Given the description of an element on the screen output the (x, y) to click on. 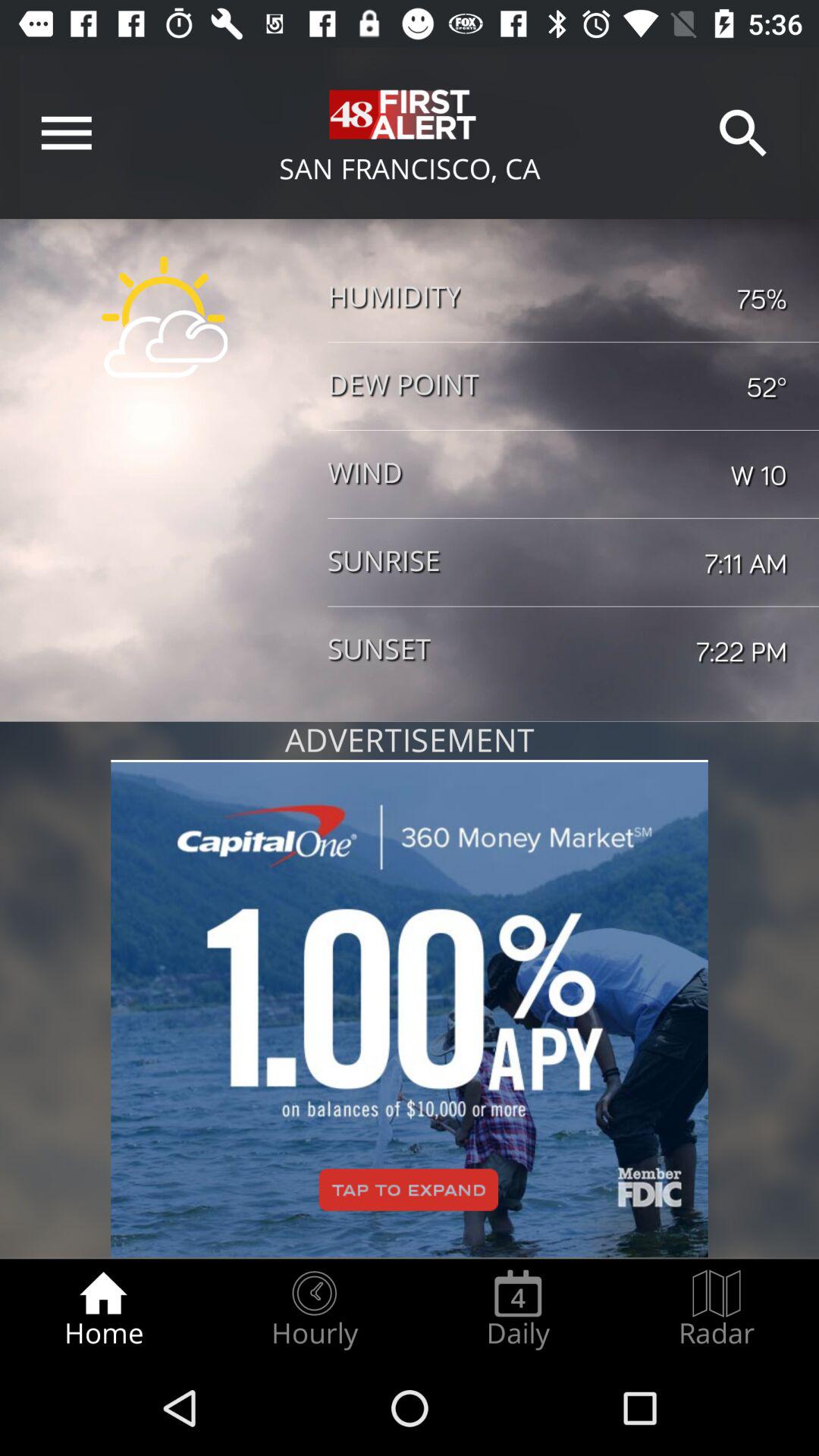
open the home radio button (103, 1309)
